Given the description of an element on the screen output the (x, y) to click on. 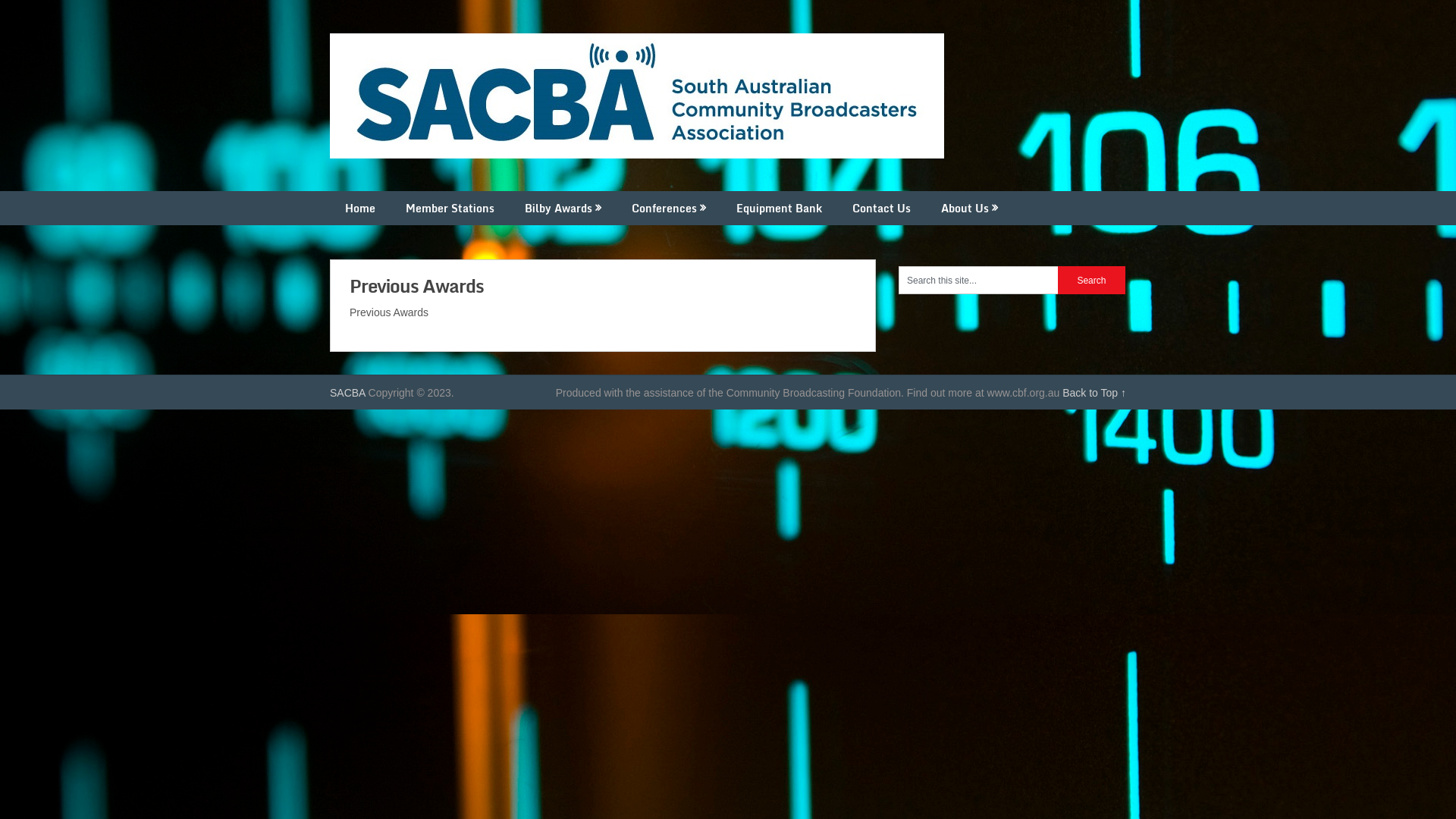
About Us Element type: text (969, 208)
Bilby Awards Element type: text (562, 208)
Conferences Element type: text (668, 208)
Equipment Bank Element type: text (779, 208)
Home Element type: text (359, 208)
Member Stations Element type: text (449, 208)
Contact Us Element type: text (881, 208)
SACBA Element type: text (347, 392)
Search Element type: text (1091, 280)
